Given the description of an element on the screen output the (x, y) to click on. 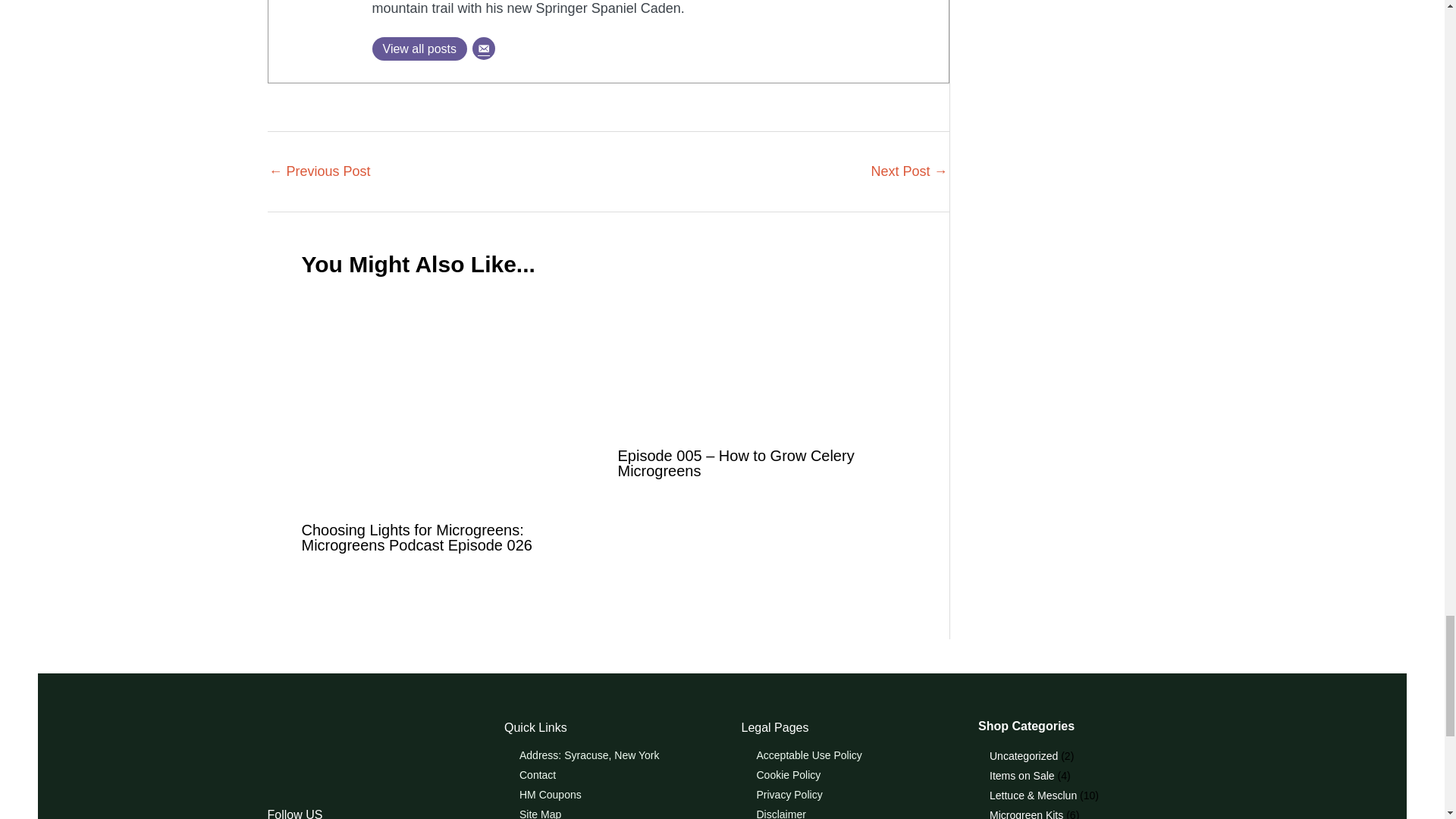
View all posts (419, 48)
